Given the description of an element on the screen output the (x, y) to click on. 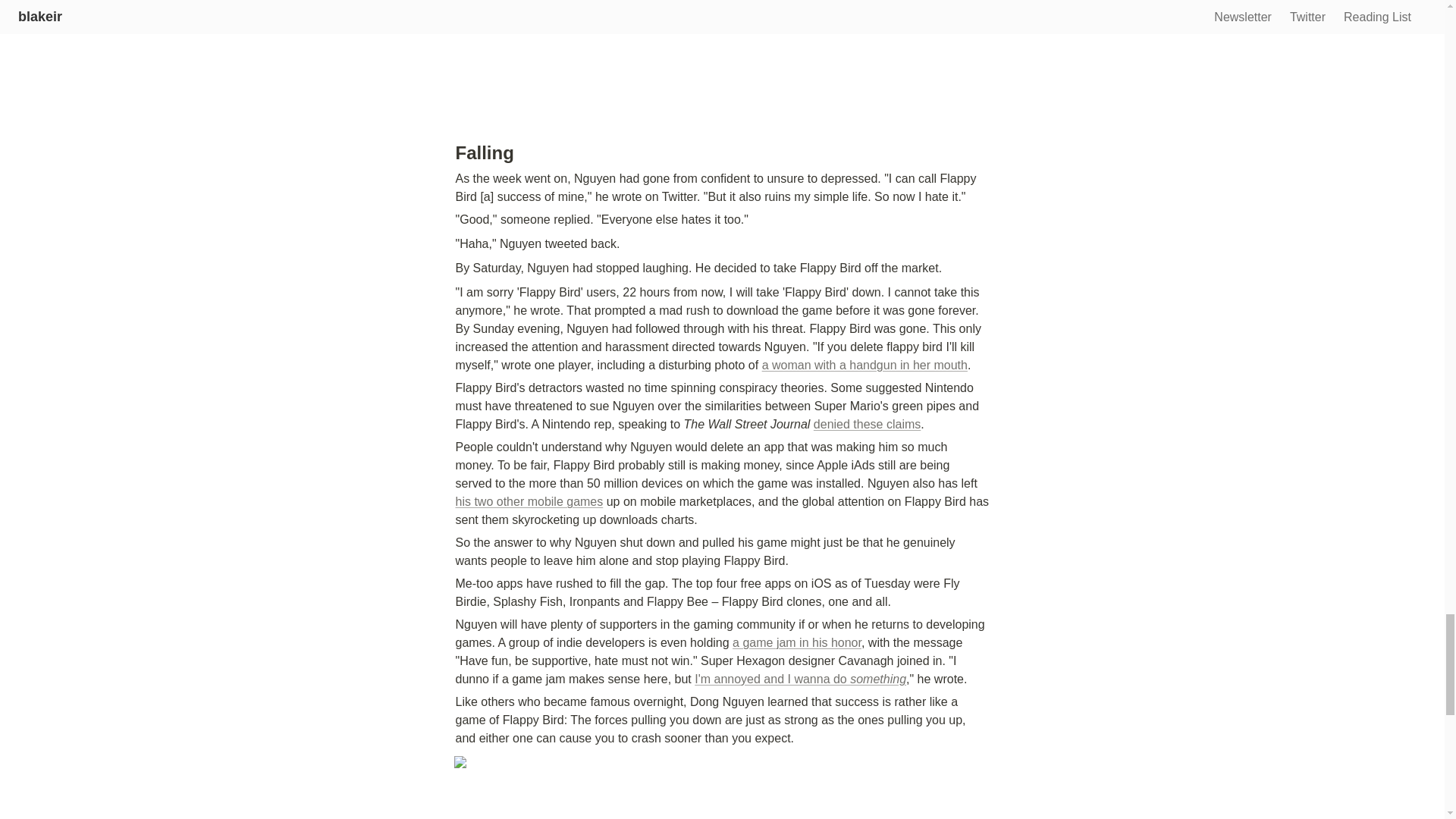
a game jam in his honor (796, 642)
denied these claims (866, 423)
I'm annoyed and I wanna do  (772, 678)
a woman with a handgun in her mouth (864, 364)
something (877, 678)
his two other mobile games (528, 501)
